Given the description of an element on the screen output the (x, y) to click on. 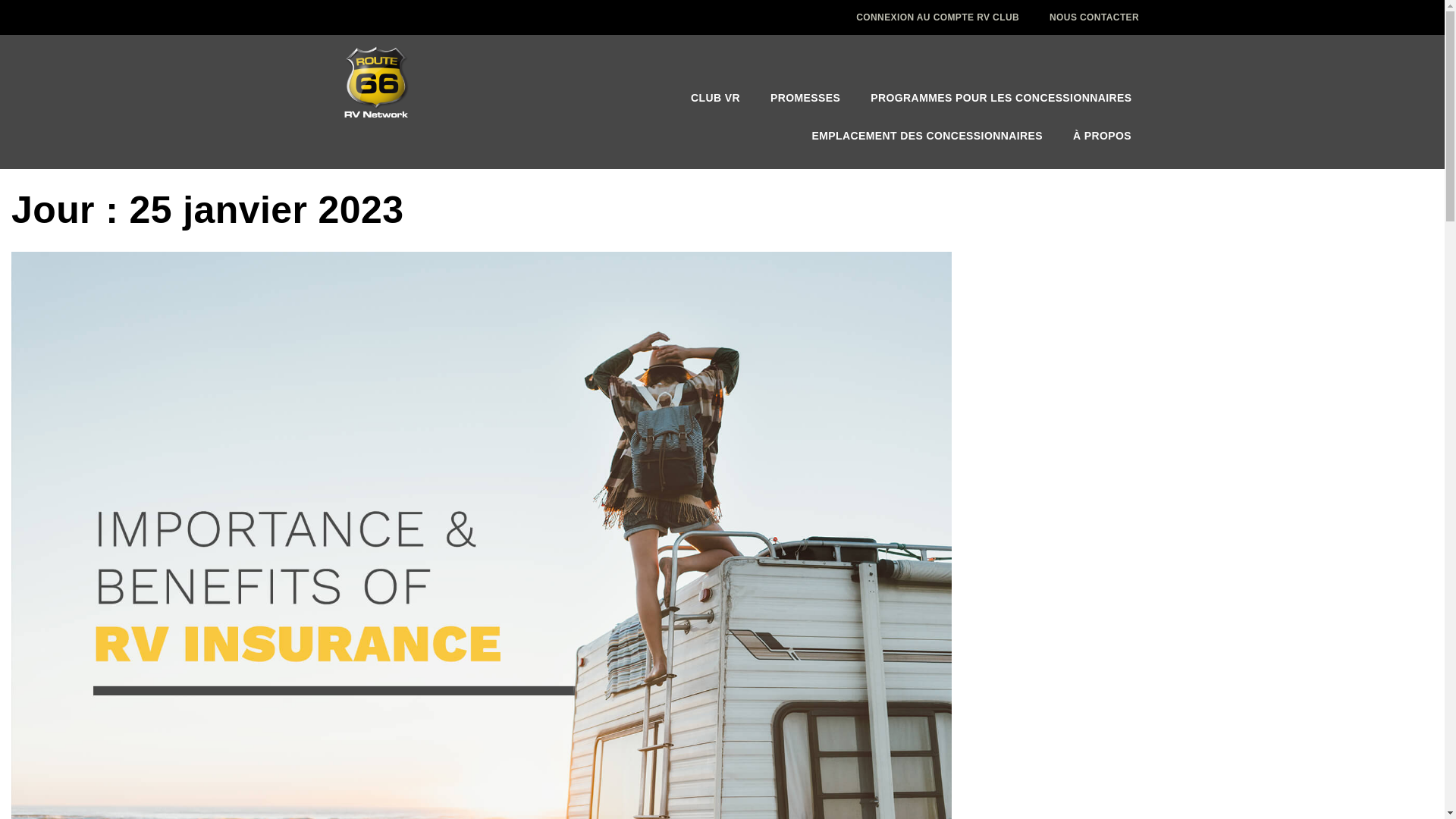
PROGRAMMES POUR LES CONCESSIONNAIRES (1001, 97)
NOUS CONTACTER (1093, 17)
EMPLACEMENT DES CONCESSIONNAIRES (927, 135)
CLUB VR (715, 97)
CONNEXION AU COMPTE RV CLUB (937, 17)
PROMESSES (805, 97)
